Given the description of an element on the screen output the (x, y) to click on. 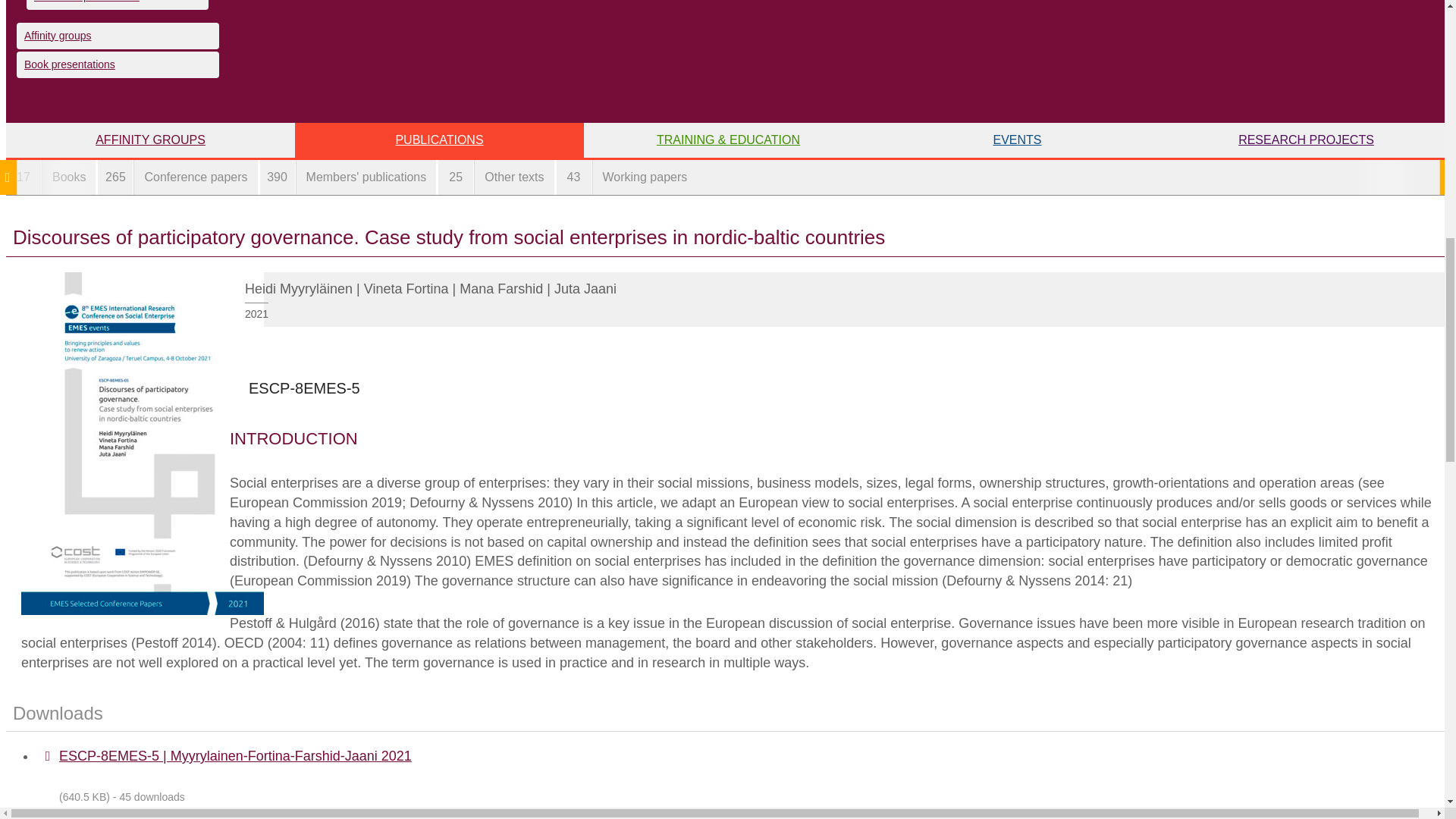
Members' publications (117, 4)
Affinity groups (117, 35)
Book presentations (117, 64)
